Given the description of an element on the screen output the (x, y) to click on. 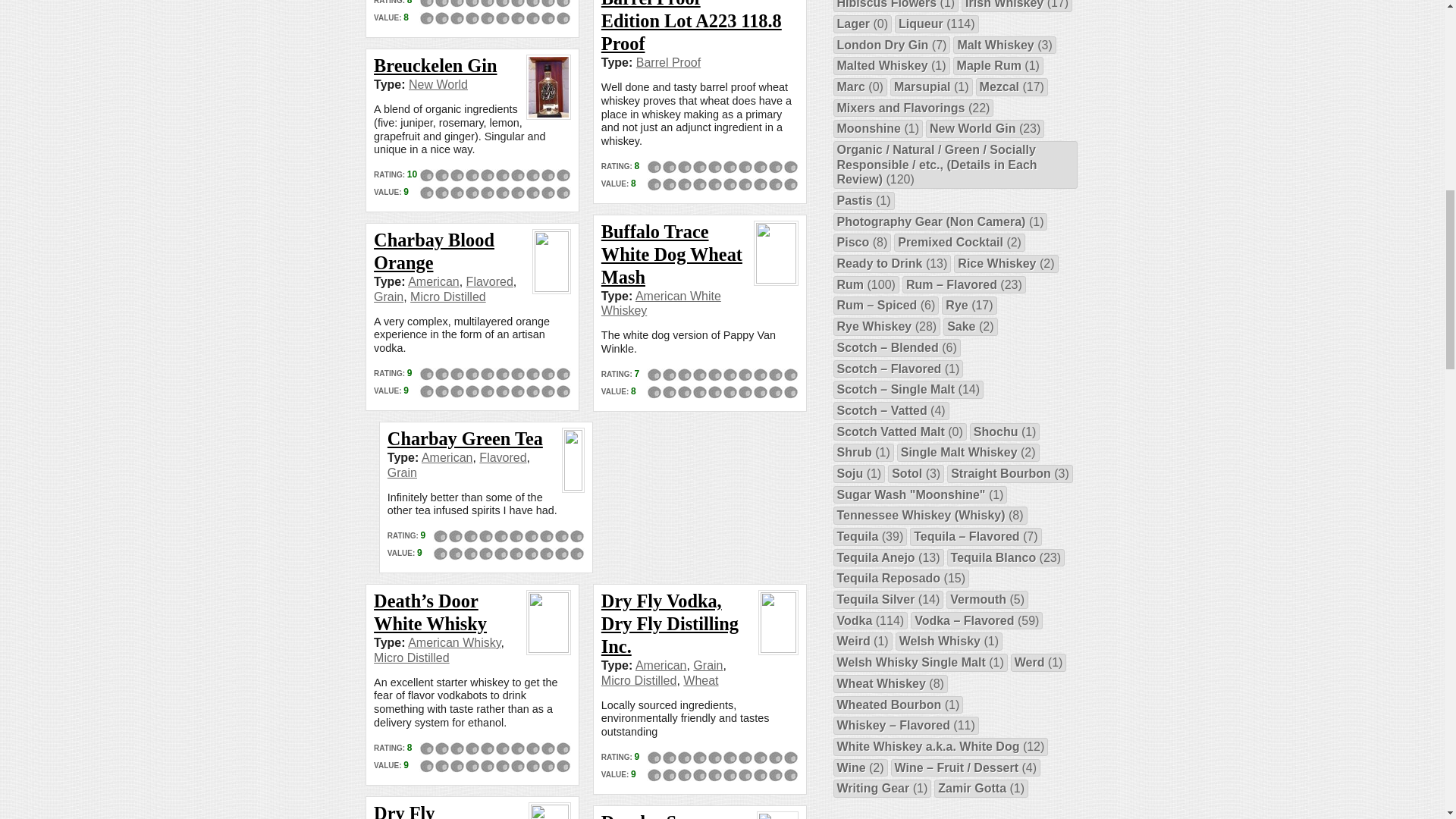
Barrel Proof (668, 62)
Charbay Blood Orange (434, 251)
American (433, 281)
New World (438, 83)
Breuckelen Gin (435, 65)
Buffalo Trace White Dog Wheat Mash (671, 254)
American White Whiskey (660, 303)
